Given the description of an element on the screen output the (x, y) to click on. 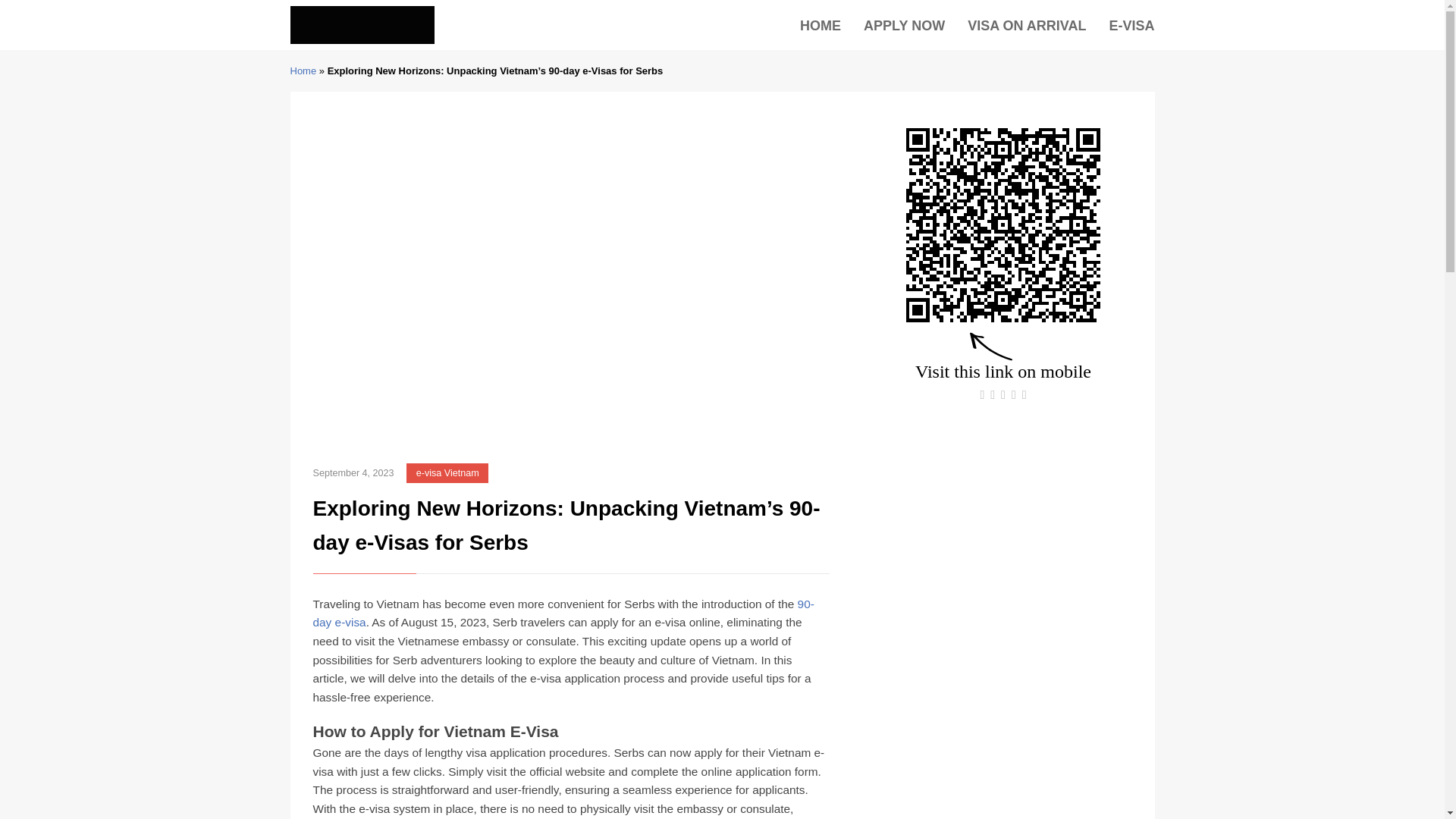
APPLY NOW (903, 25)
E-VISA (1131, 25)
Home (302, 70)
VISA ON ARRIVAL (1026, 25)
HOME (820, 25)
90-day e-visa (563, 613)
e-visa Vietnam (446, 472)
